Given the description of an element on the screen output the (x, y) to click on. 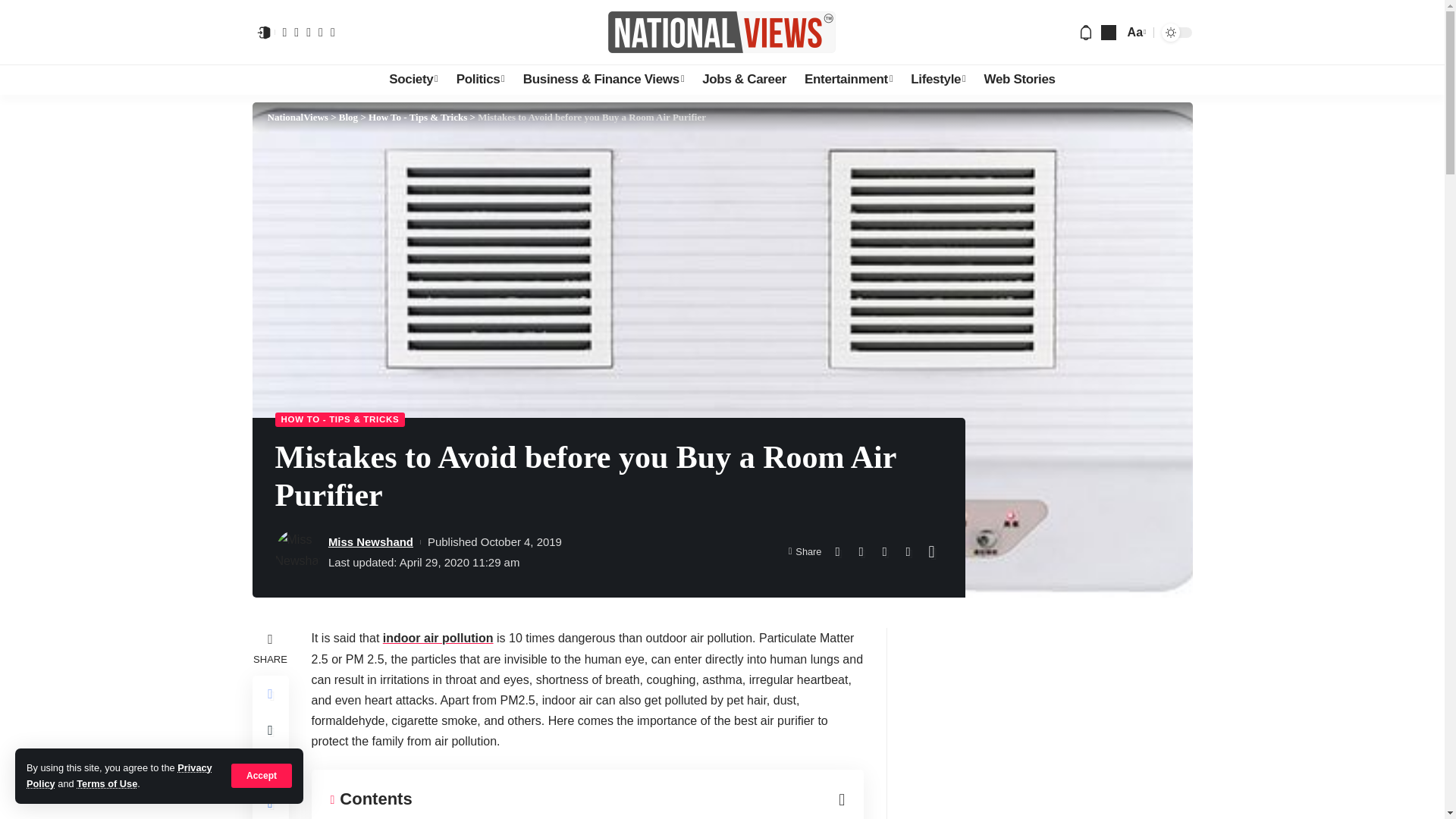
Politics (479, 79)
Aa (1135, 32)
Society (413, 79)
Privacy Policy (119, 775)
Accept (261, 775)
Terms of Use (106, 783)
Go to Blog. (348, 116)
Entertainment (847, 79)
Go to NationalViews. (296, 116)
NationalViews (721, 32)
